Given the description of an element on the screen output the (x, y) to click on. 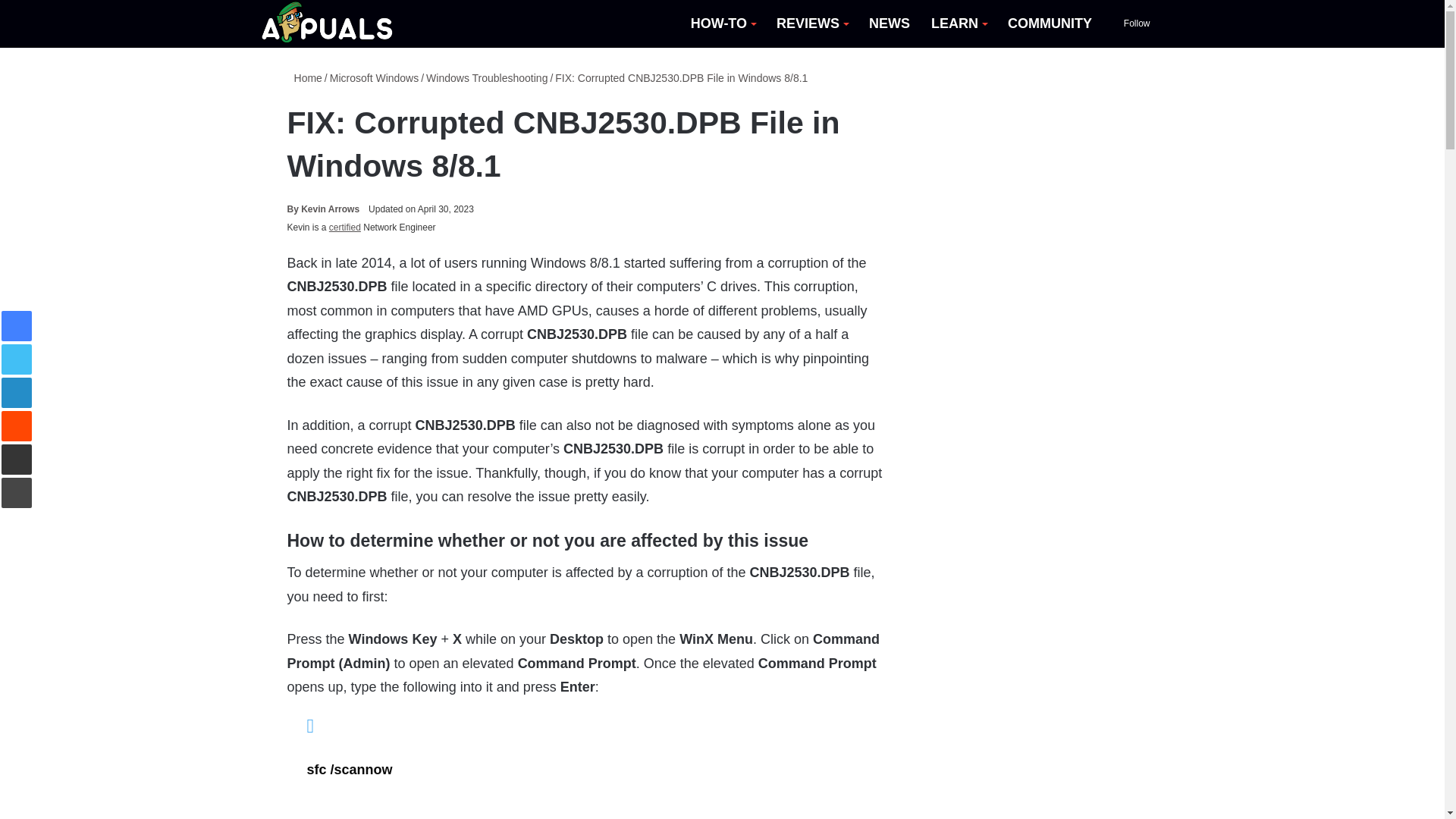
Print (16, 492)
Share via Email (16, 459)
Kevin Arrows (322, 208)
LinkedIn (16, 392)
COMMUNITY (1049, 23)
NEWS (889, 23)
LEARN (958, 23)
HOW-TO (722, 23)
Reddit (16, 426)
Appuals (327, 23)
REVIEWS (812, 23)
Twitter (16, 358)
Facebook (16, 326)
